Given the description of an element on the screen output the (x, y) to click on. 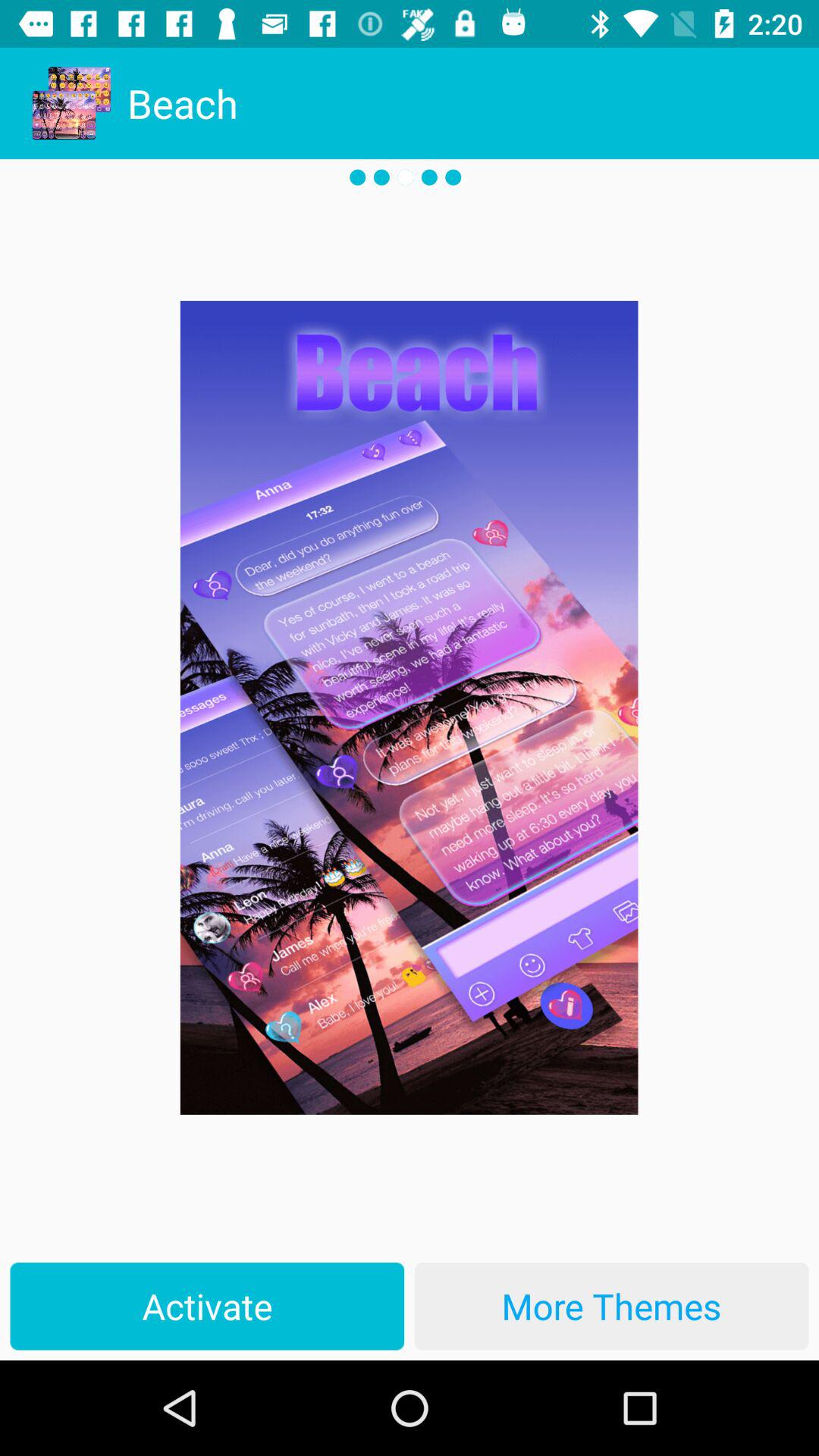
turn on icon at the bottom left corner (207, 1306)
